Given the description of an element on the screen output the (x, y) to click on. 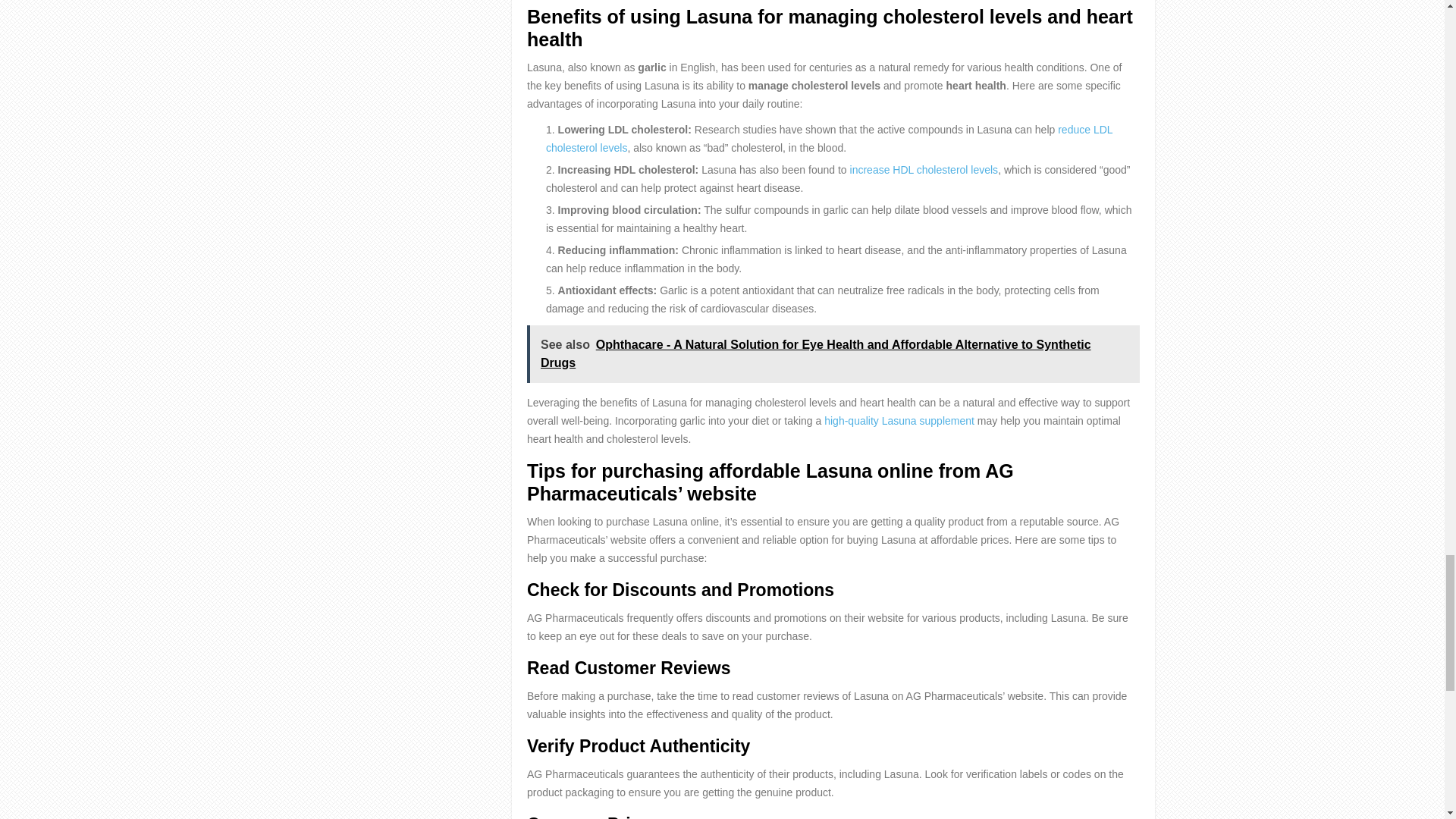
increase HDL cholesterol levels (924, 169)
high-quality Lasuna supplement (899, 420)
reduce LDL cholesterol levels (829, 138)
